Given the description of an element on the screen output the (x, y) to click on. 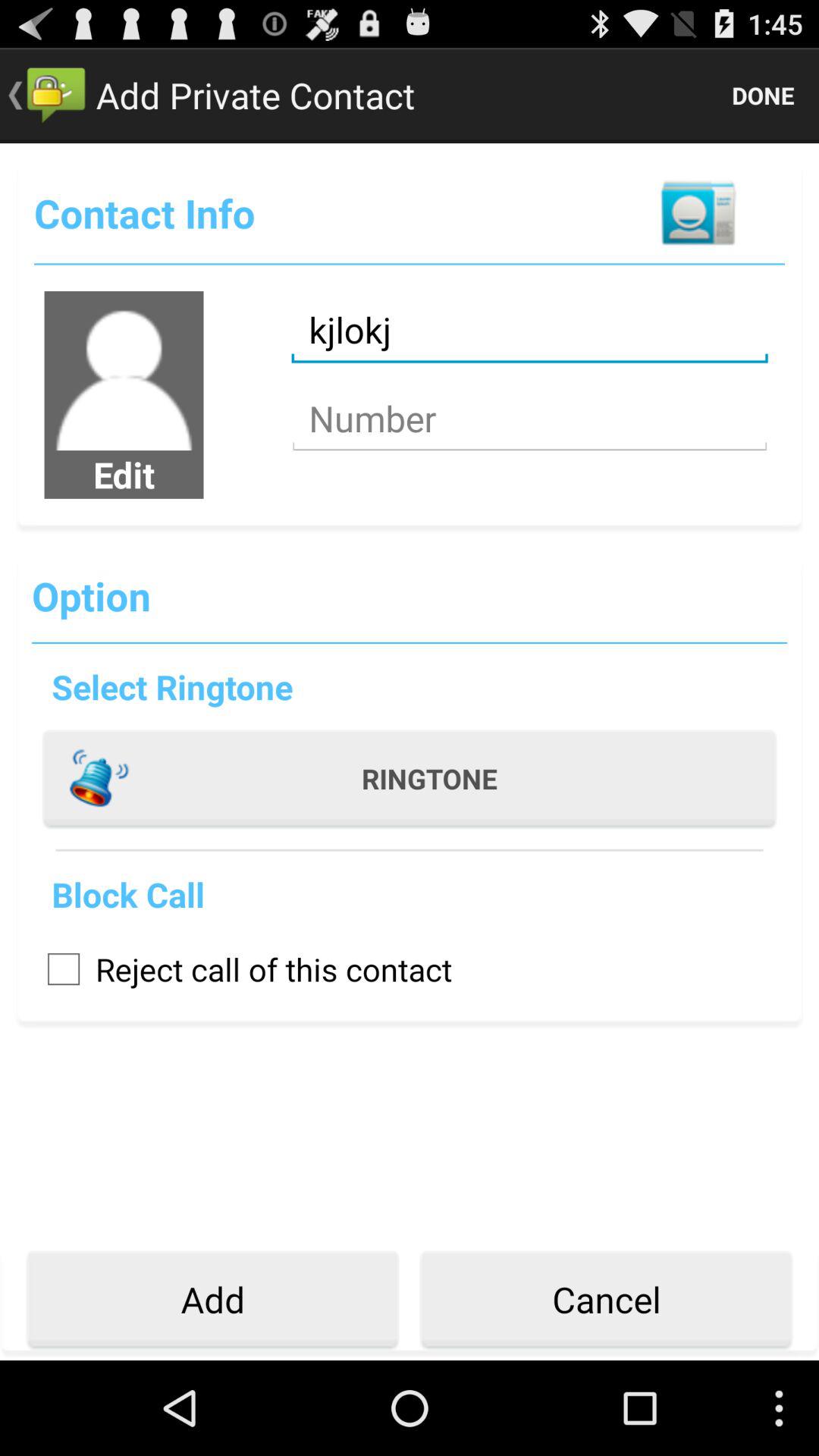
flip to reject call of icon (241, 969)
